Given the description of an element on the screen output the (x, y) to click on. 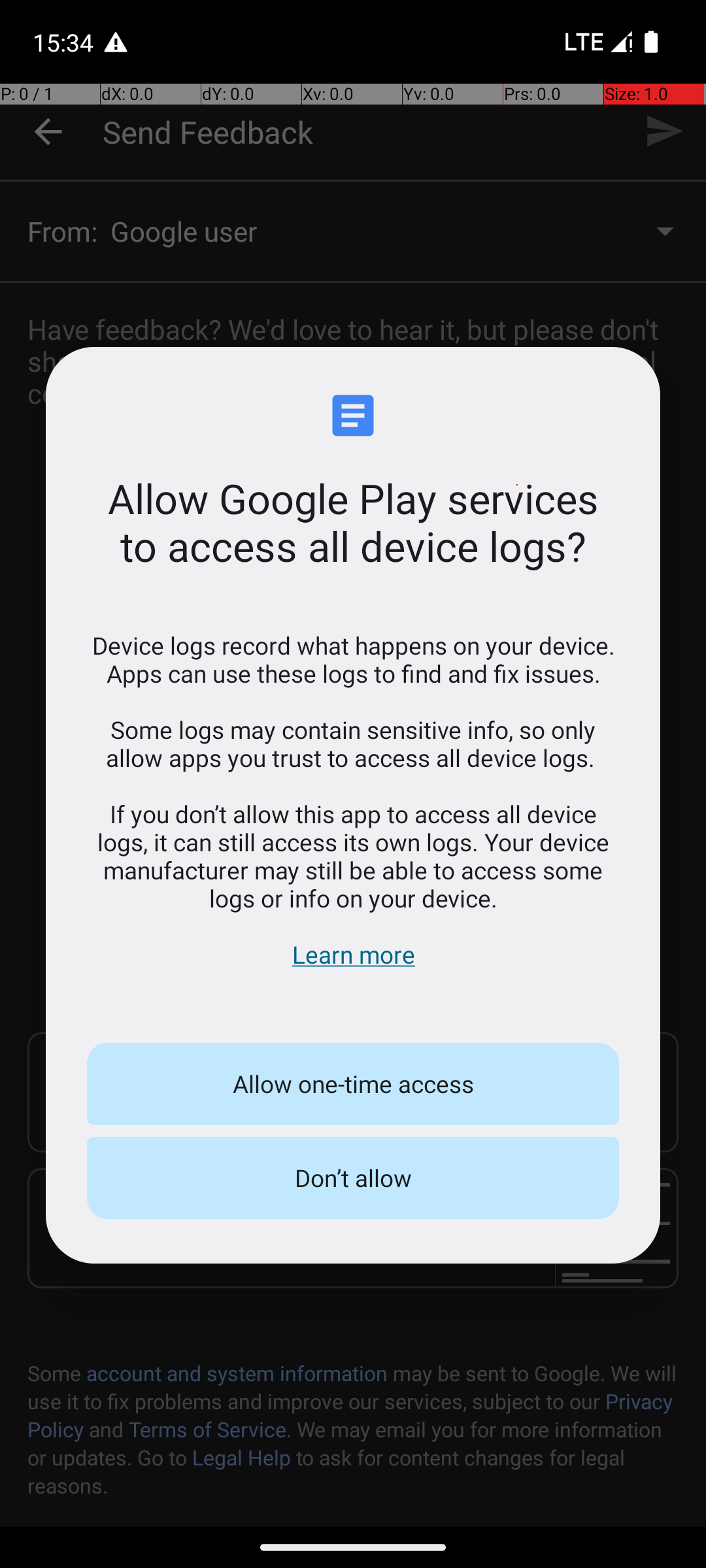
Allow Google Play services to access all device logs? Element type: android.widget.TextView (352, 521)
Device logs record what happens on your device. Apps can use these logs to find and fix issues.

Some logs may contain sensitive info, so only allow apps you trust to access all device logs. 

If you don’t allow this app to access all device logs, it can still access its own logs. Your device manufacturer may still be able to access some logs or info on your device.

Learn more Element type: android.widget.TextView (352, 799)
Allow one-time access Element type: android.widget.Button (352, 1083)
Don’t allow Element type: android.widget.Button (352, 1177)
